Given the description of an element on the screen output the (x, y) to click on. 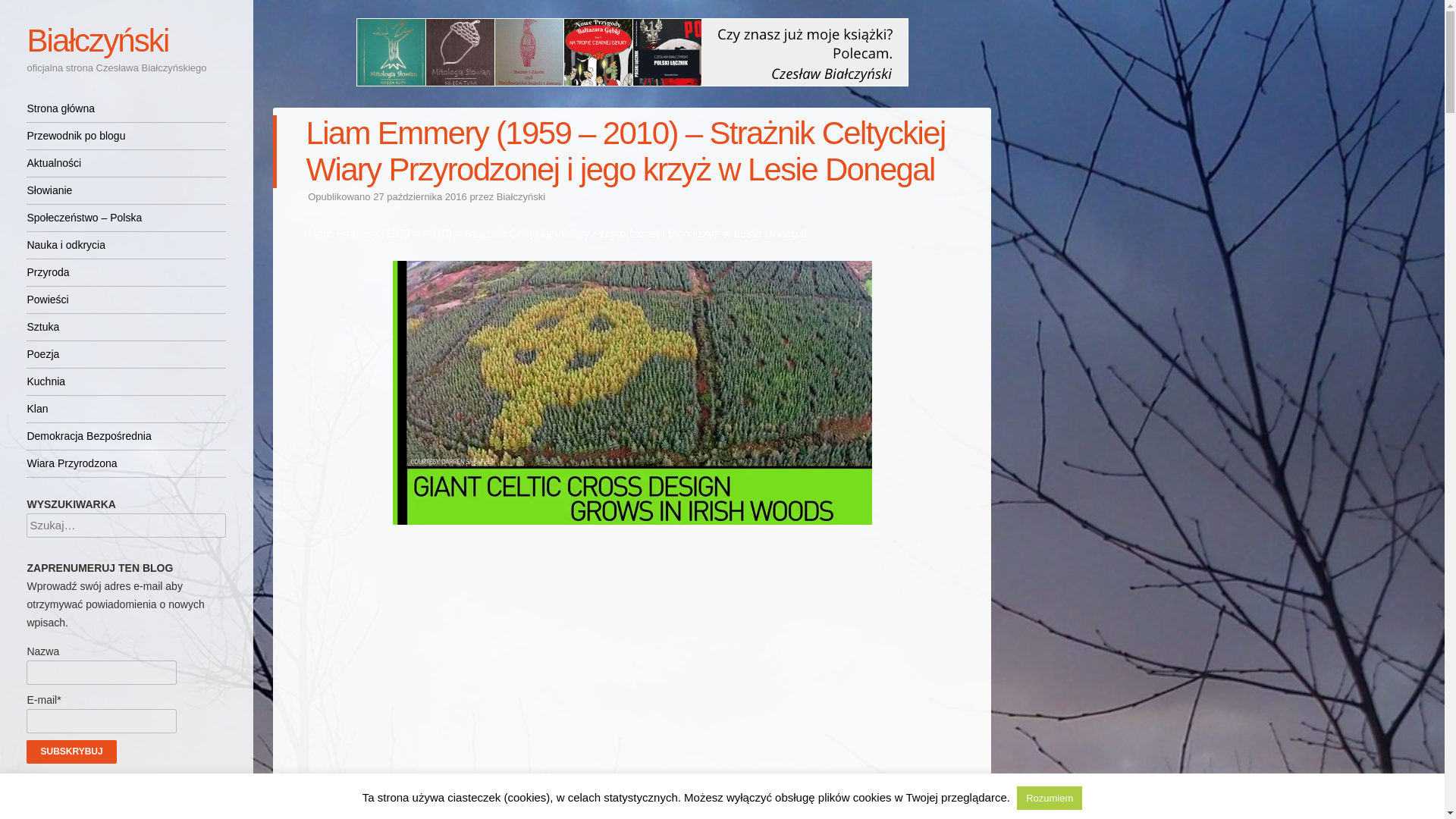
Kuchnia (125, 381)
16:40 (419, 196)
Przewodnik po blogu (125, 135)
Klan (125, 408)
Przyroda (125, 272)
Wiara Przyrodzona (125, 463)
Subskrybuj (71, 751)
Nauka i odkrycia (125, 244)
Poezja (125, 354)
Sztuka (125, 326)
